Given the description of an element on the screen output the (x, y) to click on. 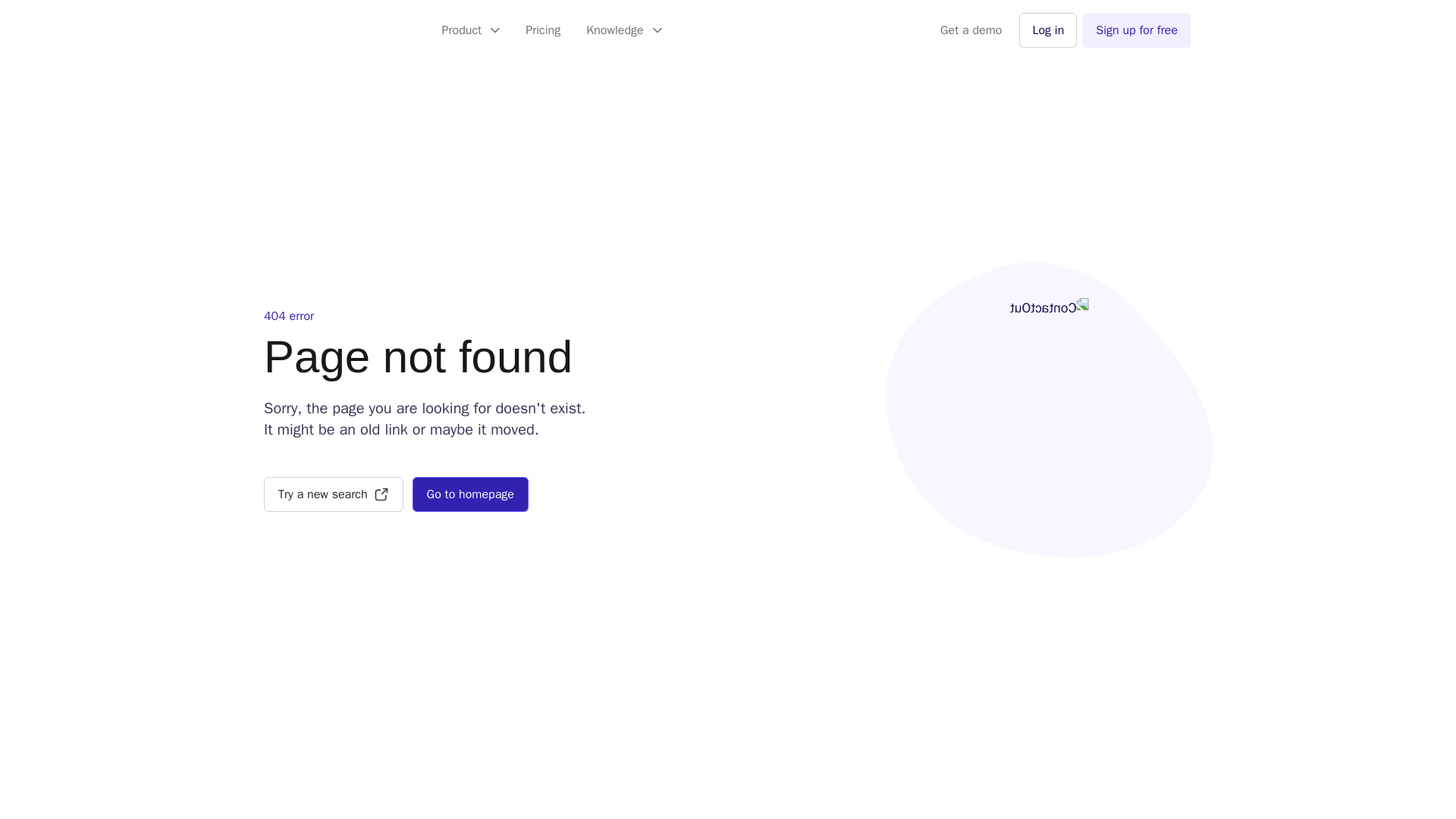
Product (471, 30)
Knowledge (623, 30)
Pricing (542, 30)
